Given the description of an element on the screen output the (x, y) to click on. 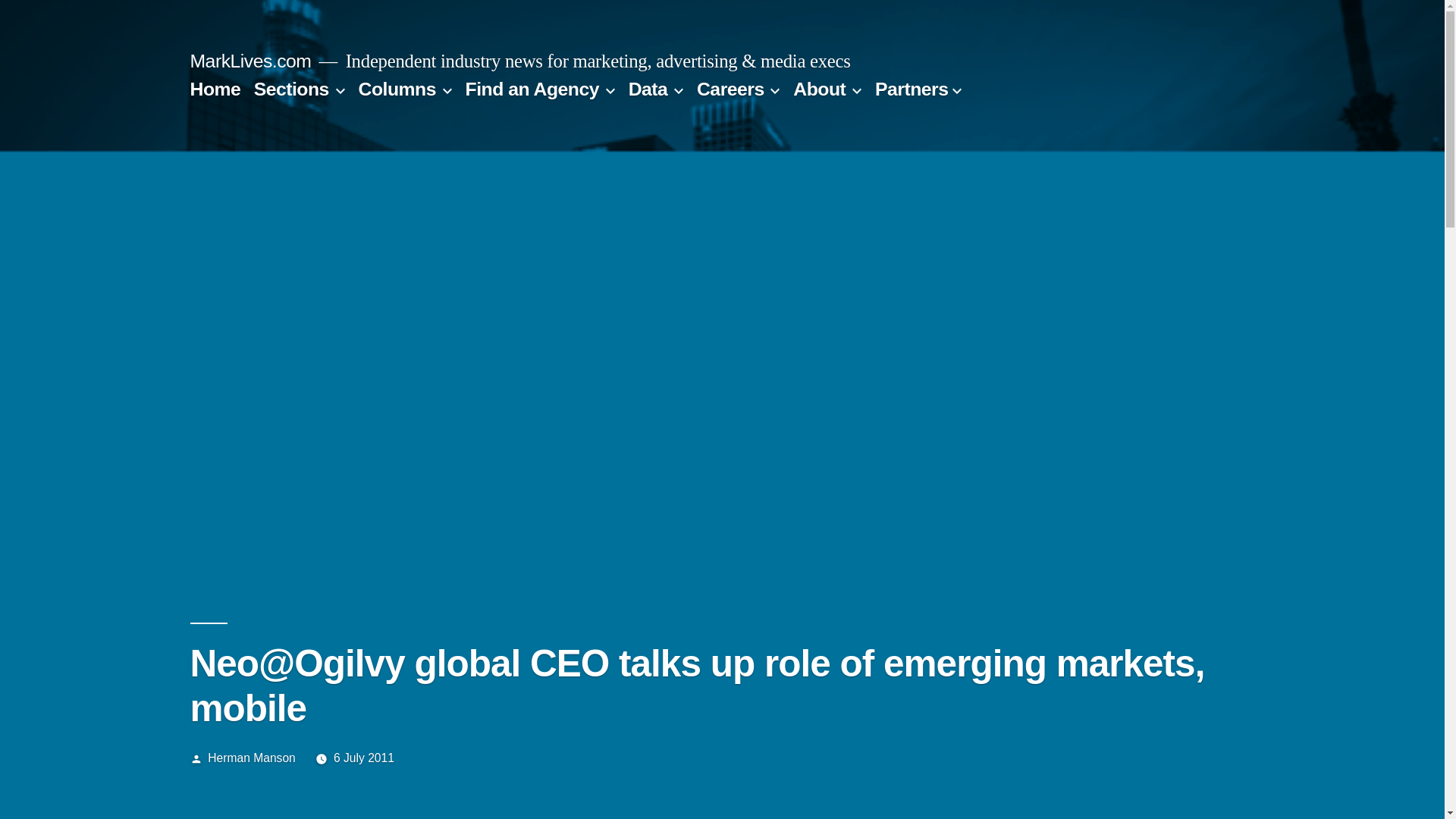
Home (214, 88)
Sections (291, 88)
MarkLives.com (250, 60)
Columns (396, 88)
